Given the description of an element on the screen output the (x, y) to click on. 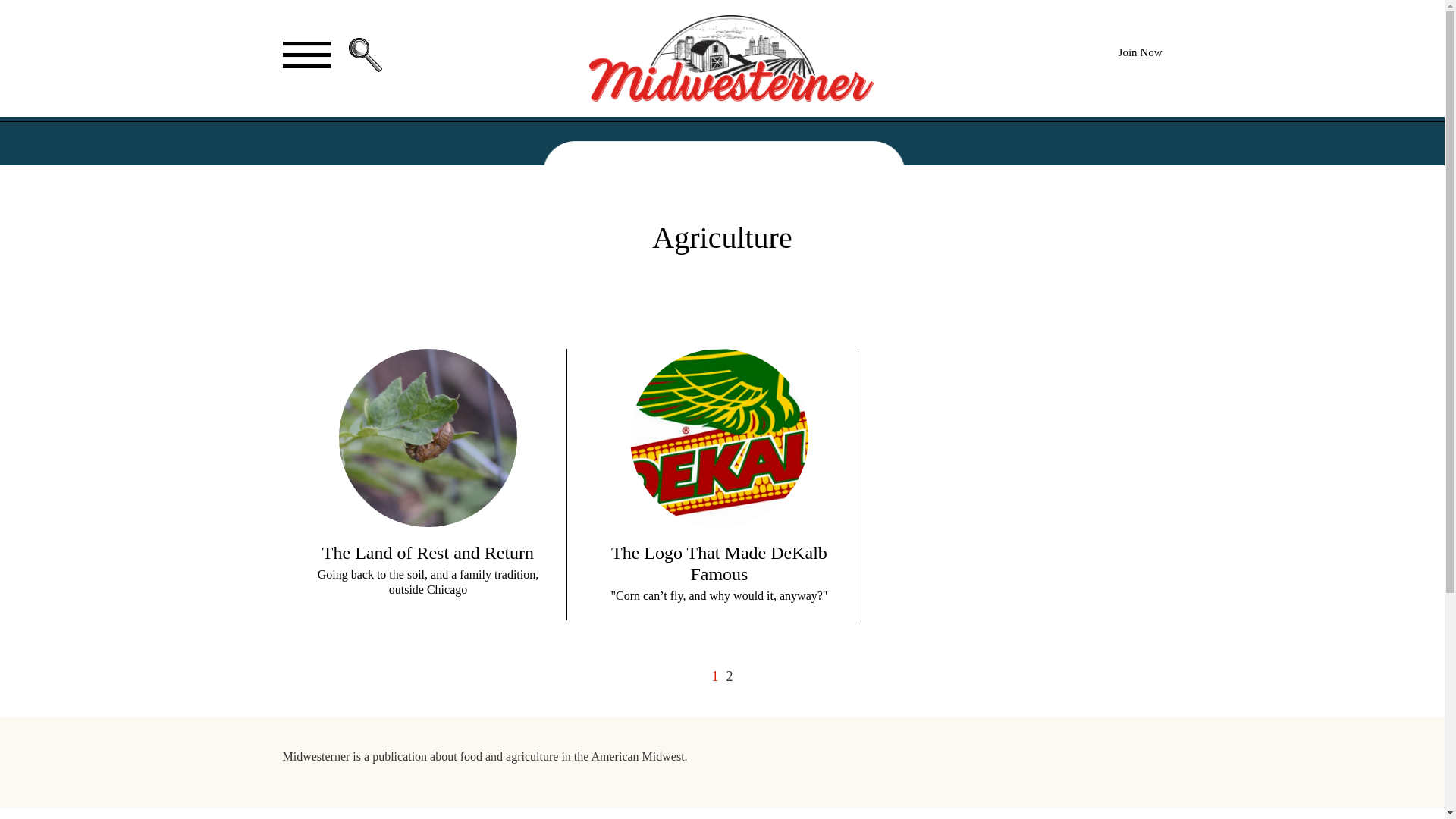
The Land of Rest and Return (427, 552)
The Logo That Made DeKalb Famous (719, 562)
Join Now (1139, 51)
